Given the description of an element on the screen output the (x, y) to click on. 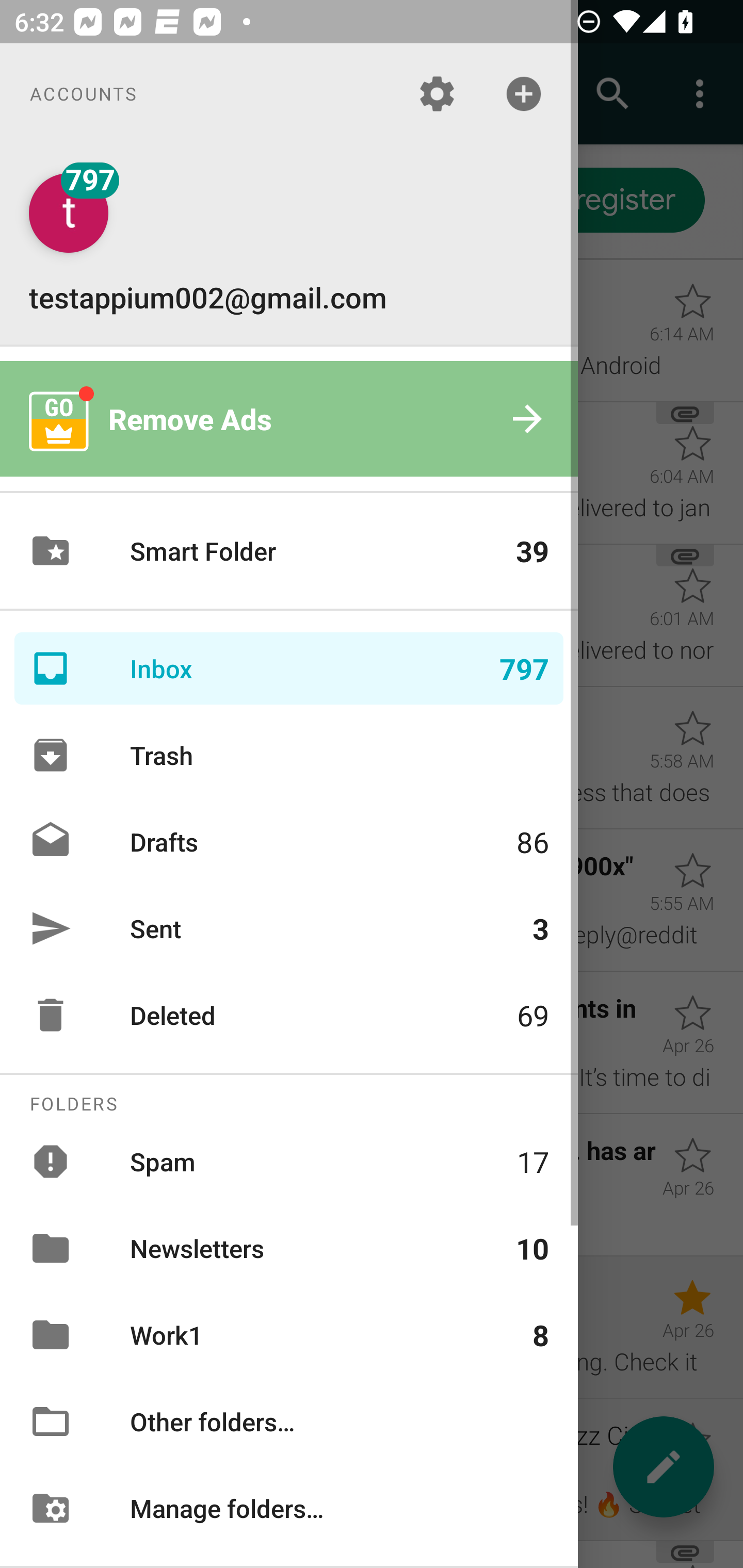
testappium002@gmail.com (289, 244)
Remove Ads (289, 418)
Smart Folder 39 (289, 551)
Inbox 797 (289, 668)
Trash (289, 754)
Drafts 86 (289, 841)
Sent 3 (289, 928)
Deleted 69 (289, 1015)
Spam 17 (289, 1160)
Newsletters 10 (289, 1248)
Work1 8 (289, 1335)
Other folders… (289, 1421)
Manage folders… (289, 1507)
